Given the description of an element on the screen output the (x, y) to click on. 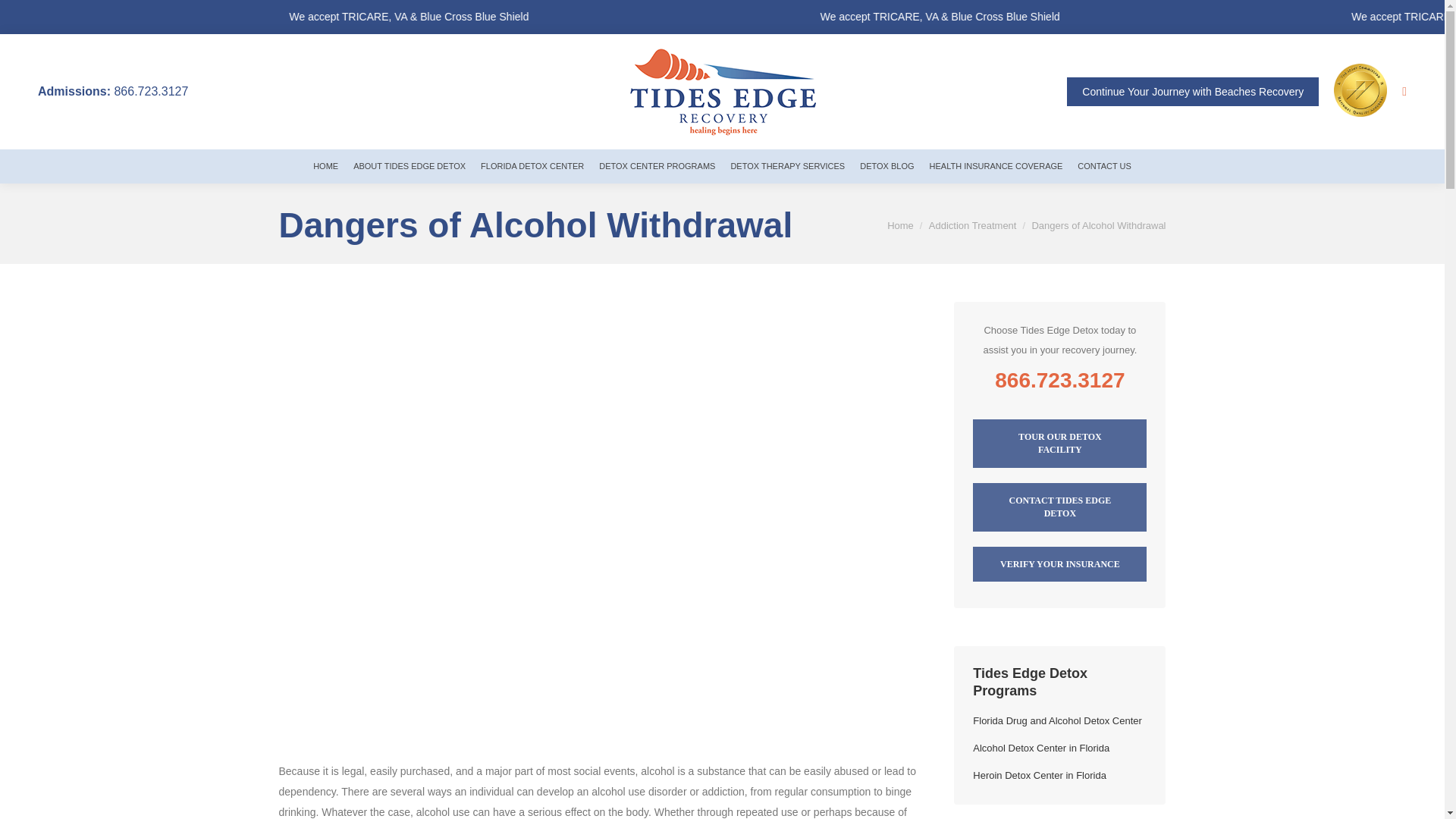
DETOX CENTER PROGRAMS (656, 166)
HOME (325, 166)
Continue Your Journey with Beaches Recovery (1193, 91)
Go! (24, 15)
ABOUT TIDES EDGE DETOX (409, 166)
Admissions: 866.723.3127 (112, 91)
FLORIDA DETOX CENTER (532, 166)
